Given the description of an element on the screen output the (x, y) to click on. 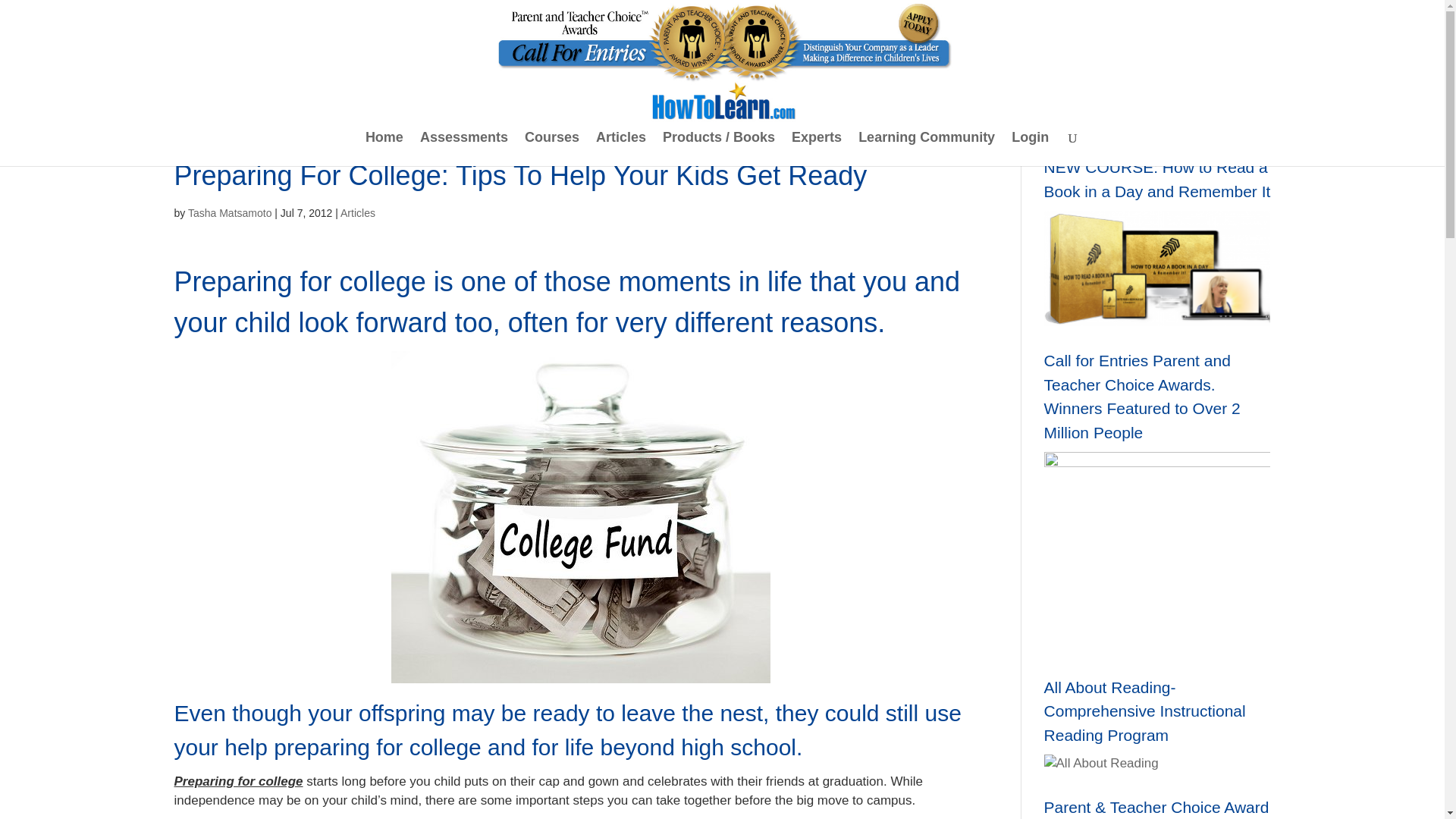
Posts by Tasha Matsamoto (229, 213)
Home (384, 148)
Tasha Matsamoto (229, 213)
Learning Community (926, 148)
Courses (551, 148)
Articles (357, 213)
Assessments (464, 148)
Articles (620, 148)
Experts (816, 148)
Login (1029, 148)
